Given the description of an element on the screen output the (x, y) to click on. 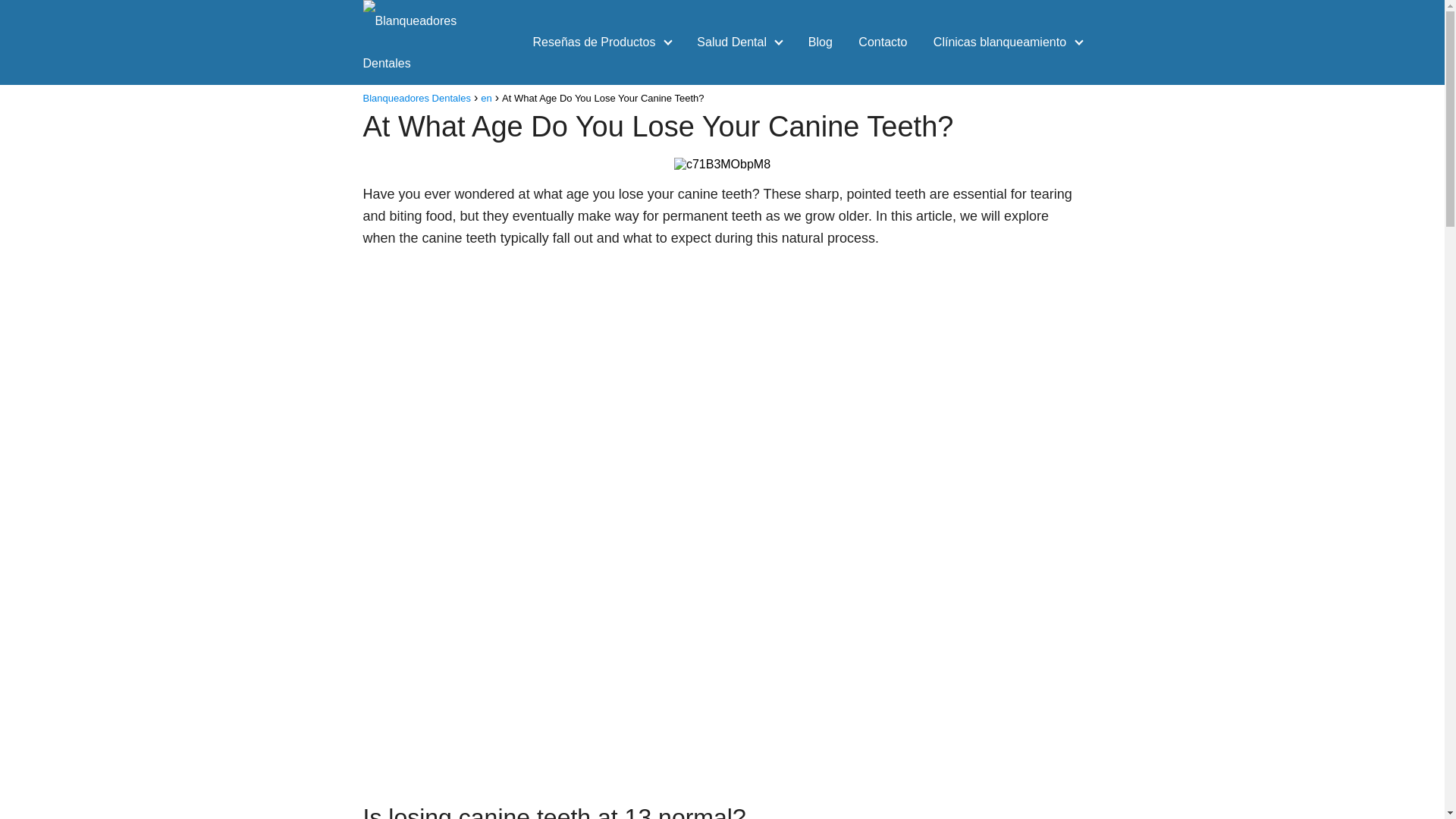
Contacto (883, 42)
At What Age Do You Lose Your Canine Teeth? 1 (722, 164)
Salud Dental (735, 42)
Blog (820, 42)
